Given the description of an element on the screen output the (x, y) to click on. 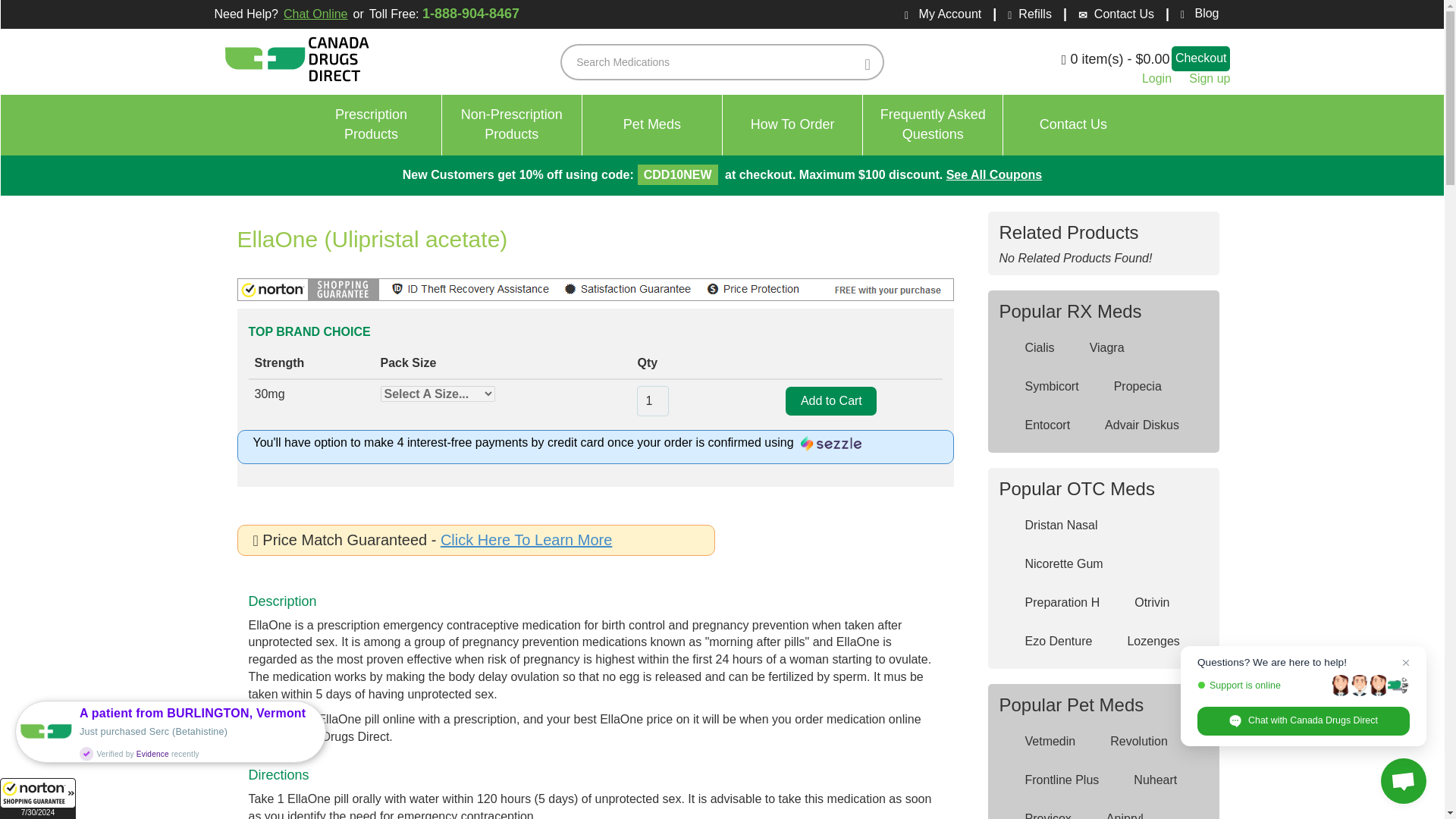
Login (1156, 78)
   Blog (1193, 13)
Unused iFrame 1 (37, 798)
Contact Us (1072, 125)
Preparation H (1052, 603)
Viagra (1095, 348)
Pet Meds (652, 125)
See All Coupons (994, 174)
Otrivin (1140, 603)
Add to Cart (831, 401)
Ezo Denture (1048, 641)
Lozenges (371, 125)
